Given the description of an element on the screen output the (x, y) to click on. 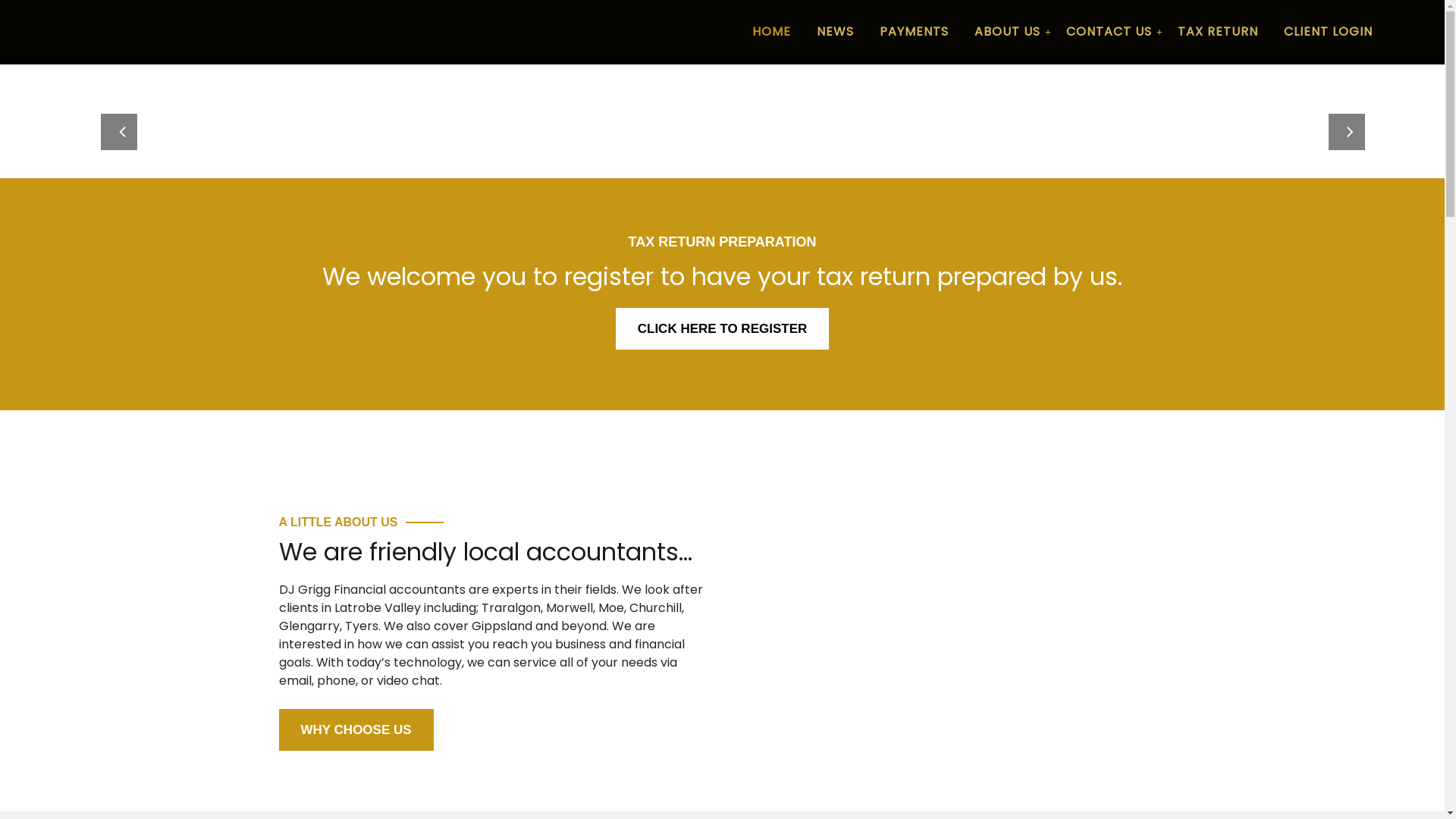
Next Element type: text (1335, 121)
CONTACT US Element type: text (1108, 31)
HOME Element type: text (771, 31)
NEWS Element type: text (835, 31)
PAYMENTS Element type: text (914, 31)
CLICK HERE TO REGISTER Element type: text (722, 328)
Previous Element type: text (108, 121)
ABOUT US Element type: text (1007, 31)
CLIENT LOGIN Element type: text (1327, 31)
TAX RETURN Element type: text (1217, 31)
WHY CHOOSE US Element type: text (356, 730)
